Given the description of an element on the screen output the (x, y) to click on. 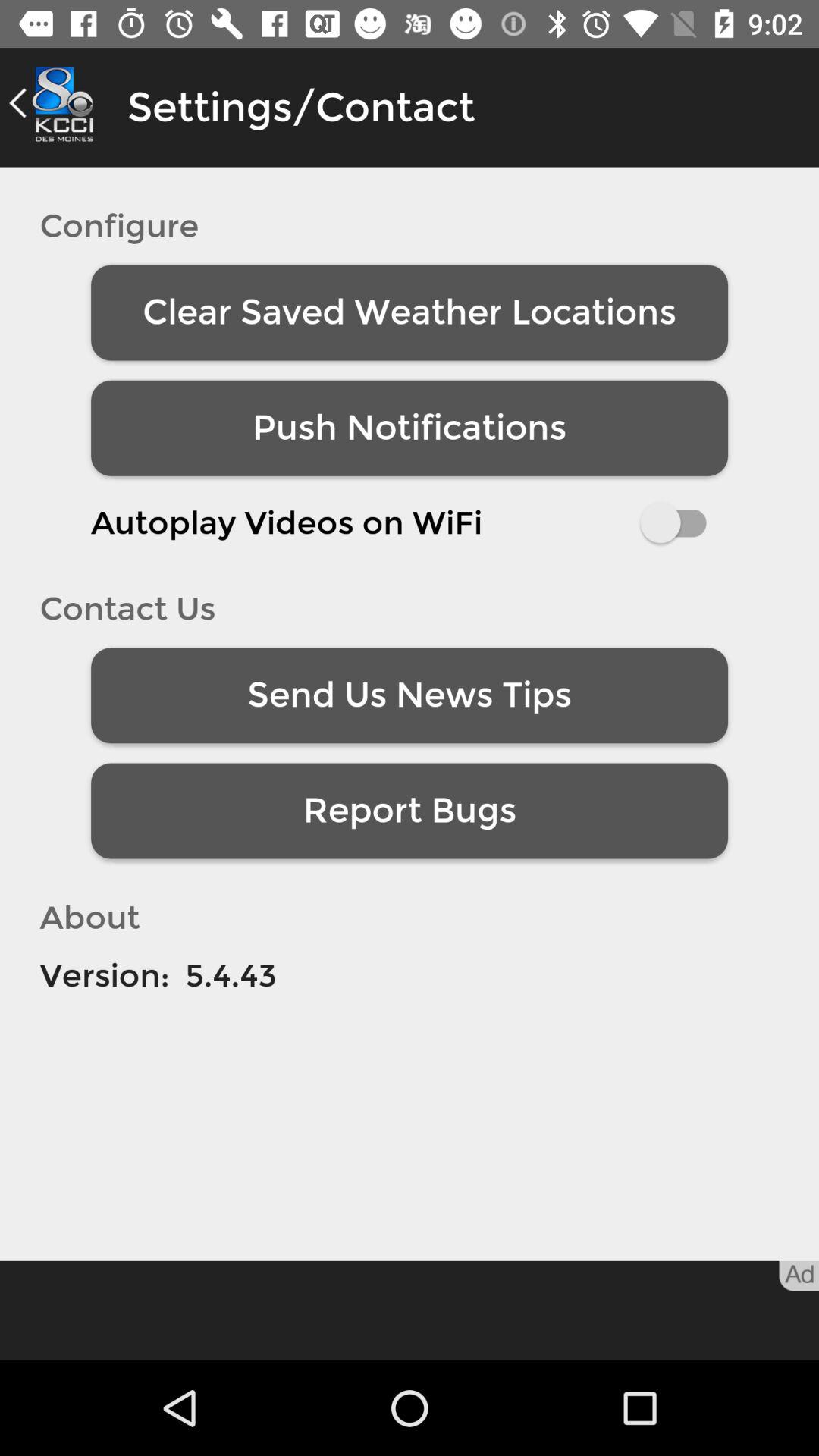
turn on the item below the push notifications (409, 522)
